Given the description of an element on the screen output the (x, y) to click on. 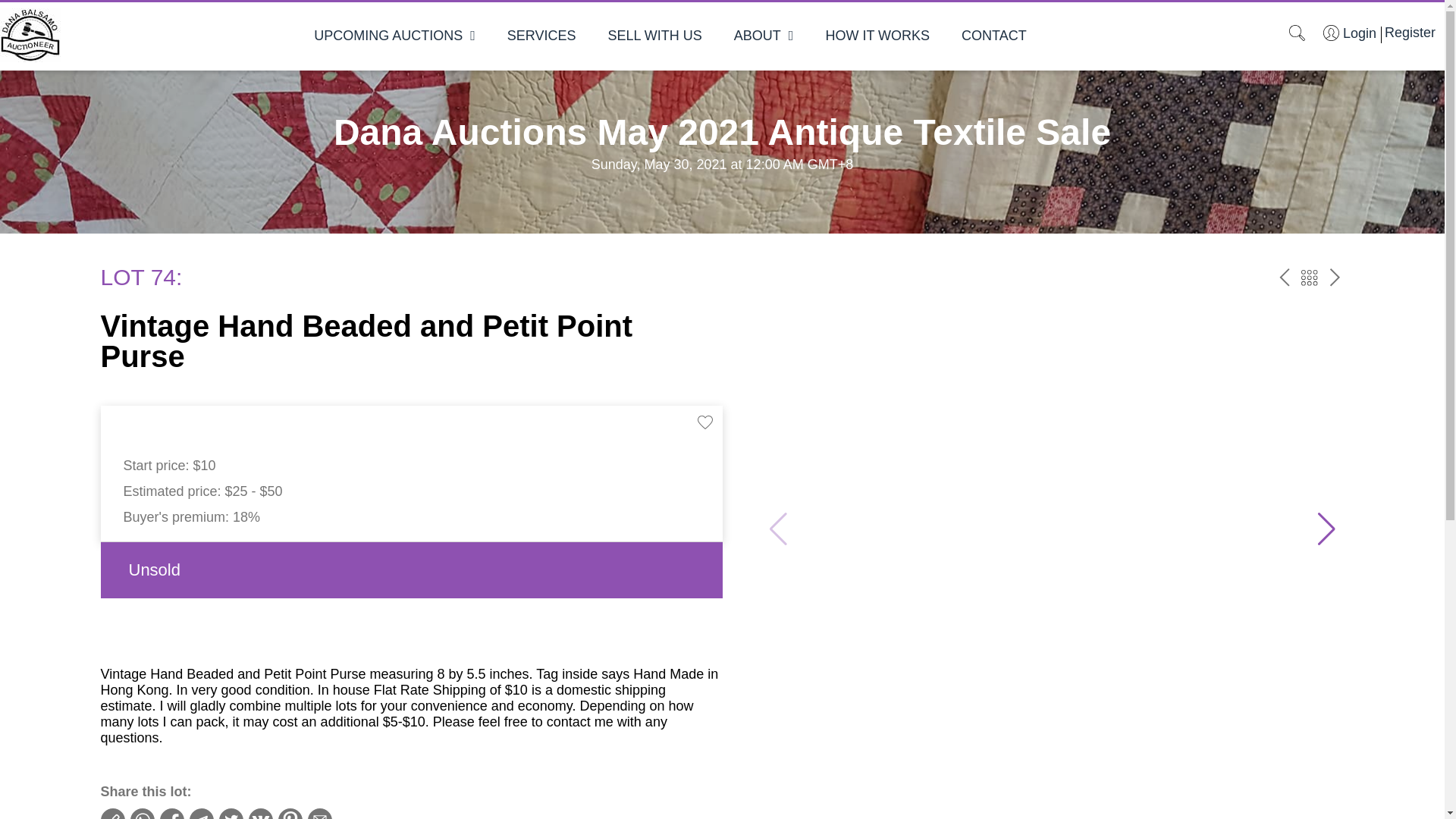
5 (1309, 277)
HOW IT WORKS (876, 35)
Register (1407, 32)
SERVICES (542, 35)
ABOUT (763, 35)
CONTACT (994, 35)
PREV (1284, 277)
UPCOMING AUCTIONS (394, 35)
SELL WITH US (654, 35)
Login (1349, 32)
